Given the description of an element on the screen output the (x, y) to click on. 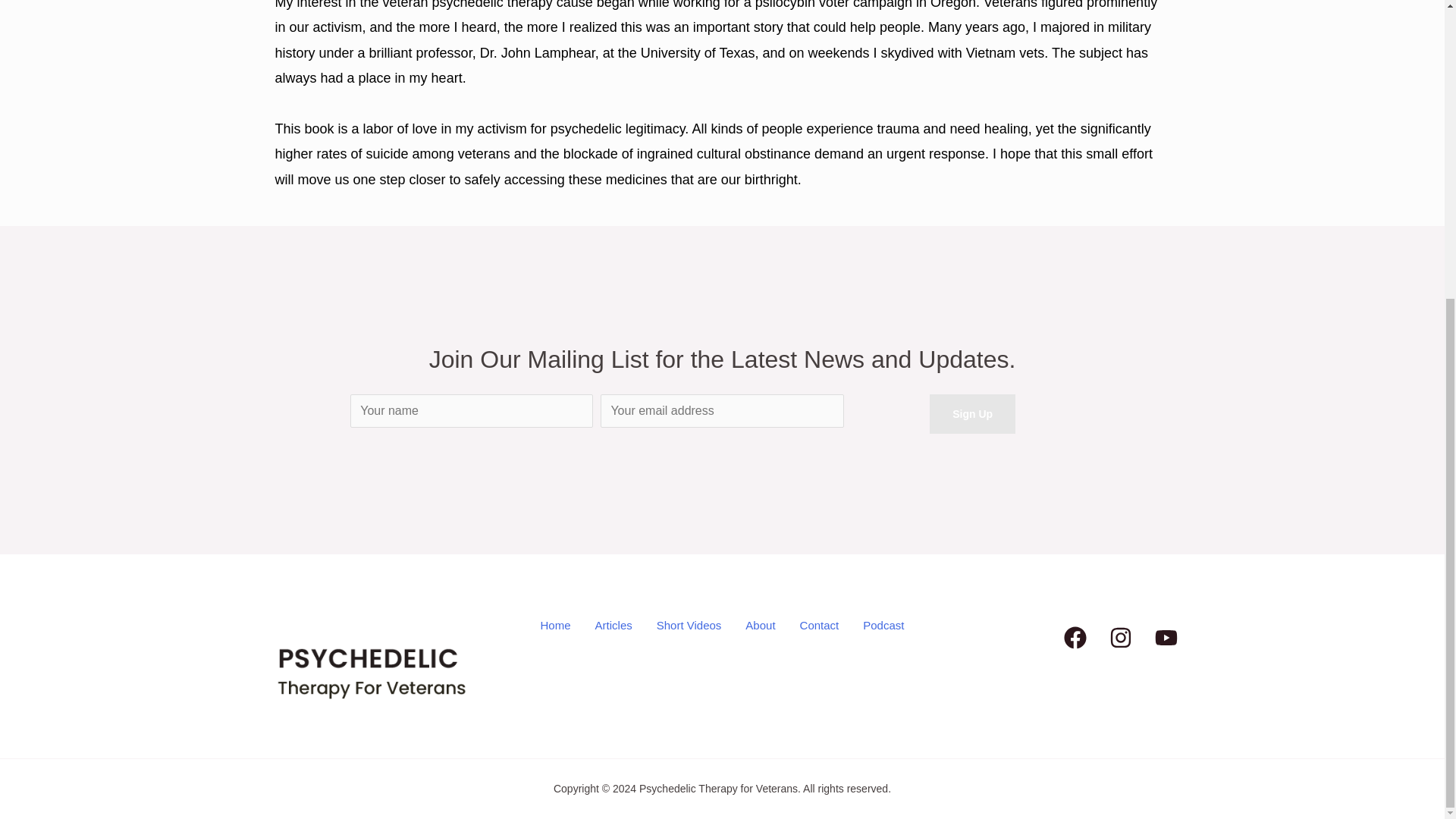
Sign up (972, 413)
